Given the description of an element on the screen output the (x, y) to click on. 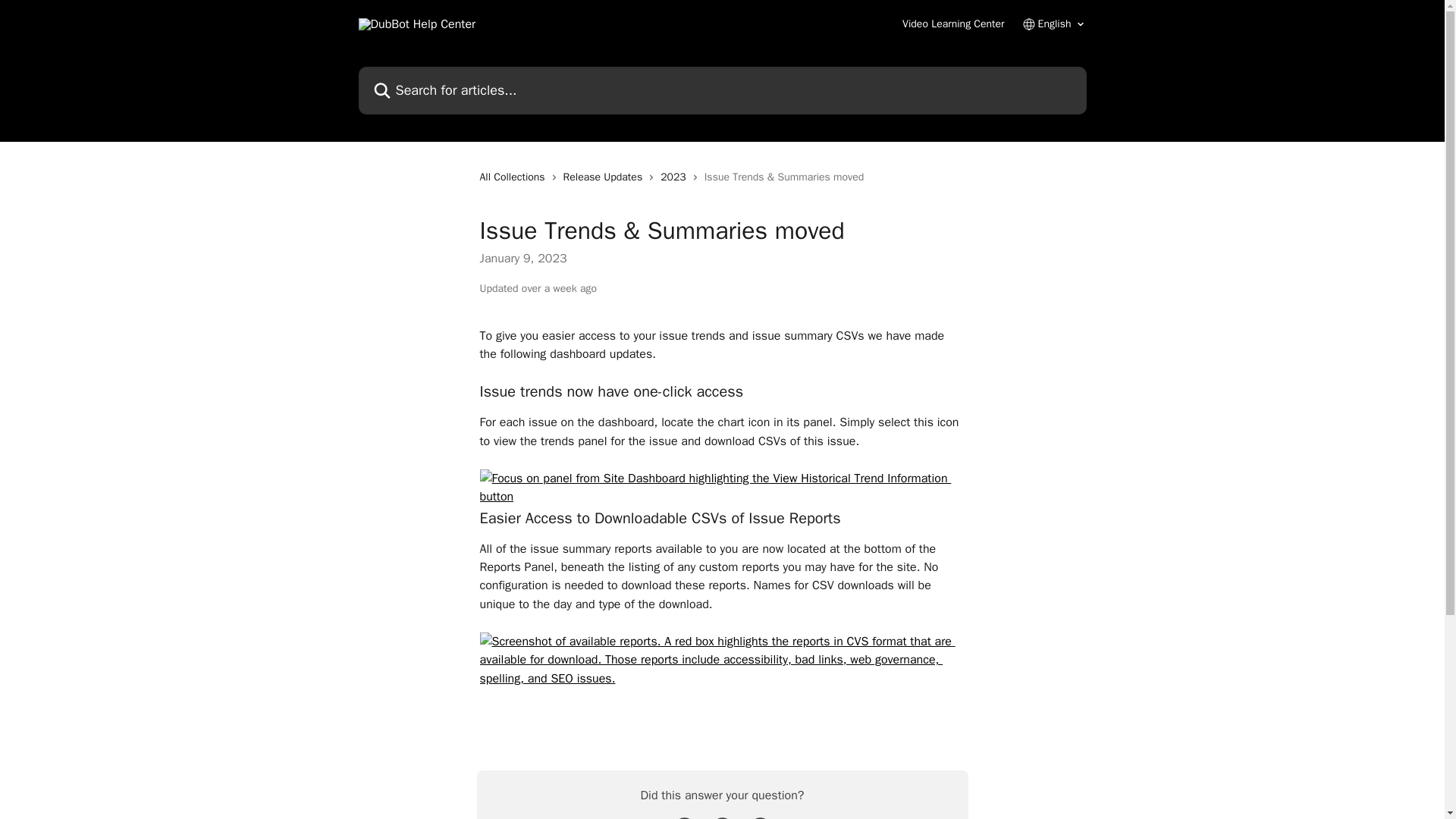
Release Updates (606, 176)
Smiley (760, 816)
Neutral (722, 816)
Video Learning Center (953, 23)
Disappointed (684, 816)
2023 (677, 176)
All Collections (514, 176)
